Given the description of an element on the screen output the (x, y) to click on. 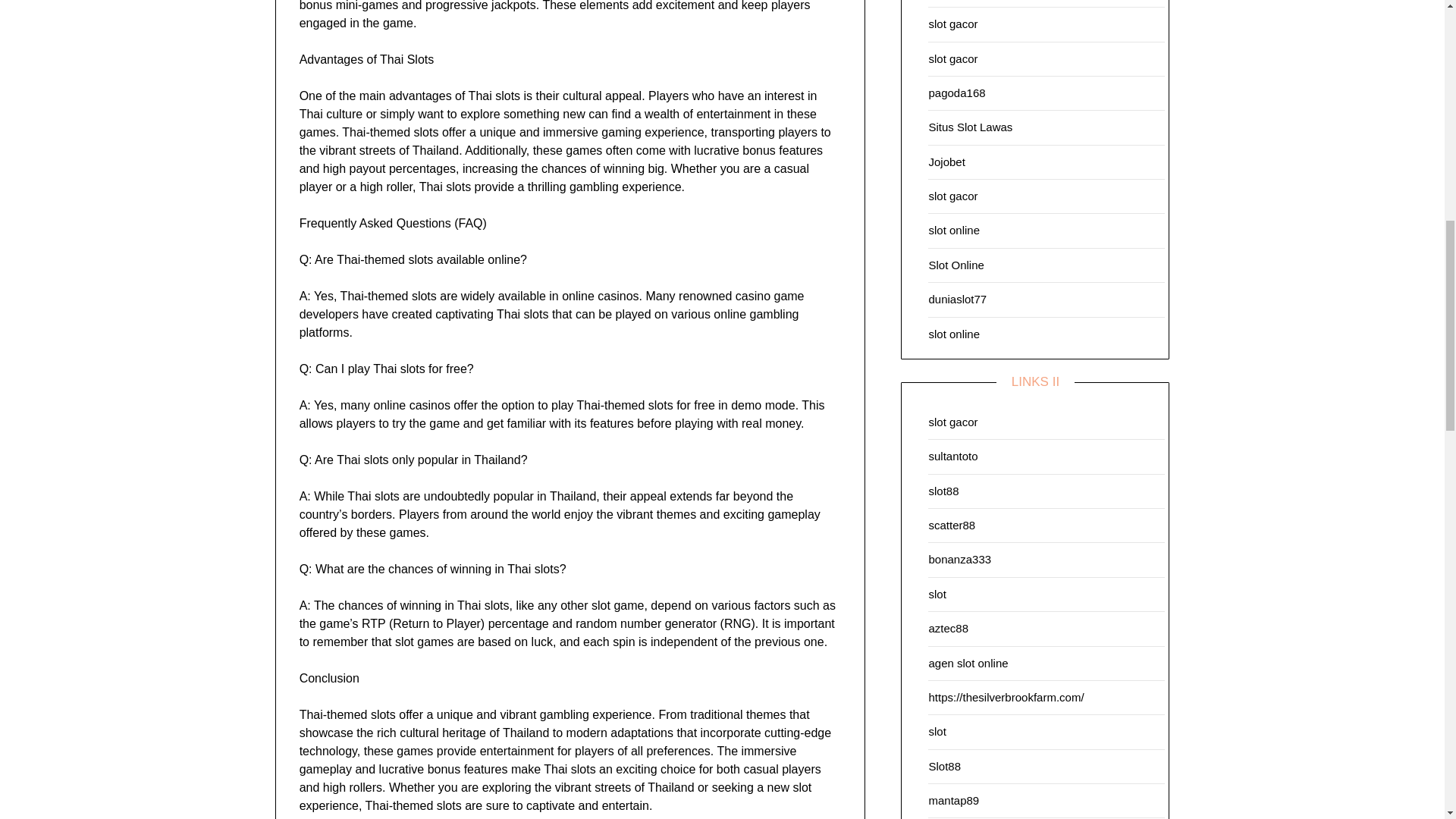
slot gacor (952, 23)
slot online (953, 229)
duniaslot77 (957, 298)
Situs Slot Lawas (969, 126)
slot gacor (952, 195)
slot gacor (952, 57)
pagoda168 (956, 92)
Slot Online (956, 264)
Jojobet (945, 161)
